Given the description of an element on the screen output the (x, y) to click on. 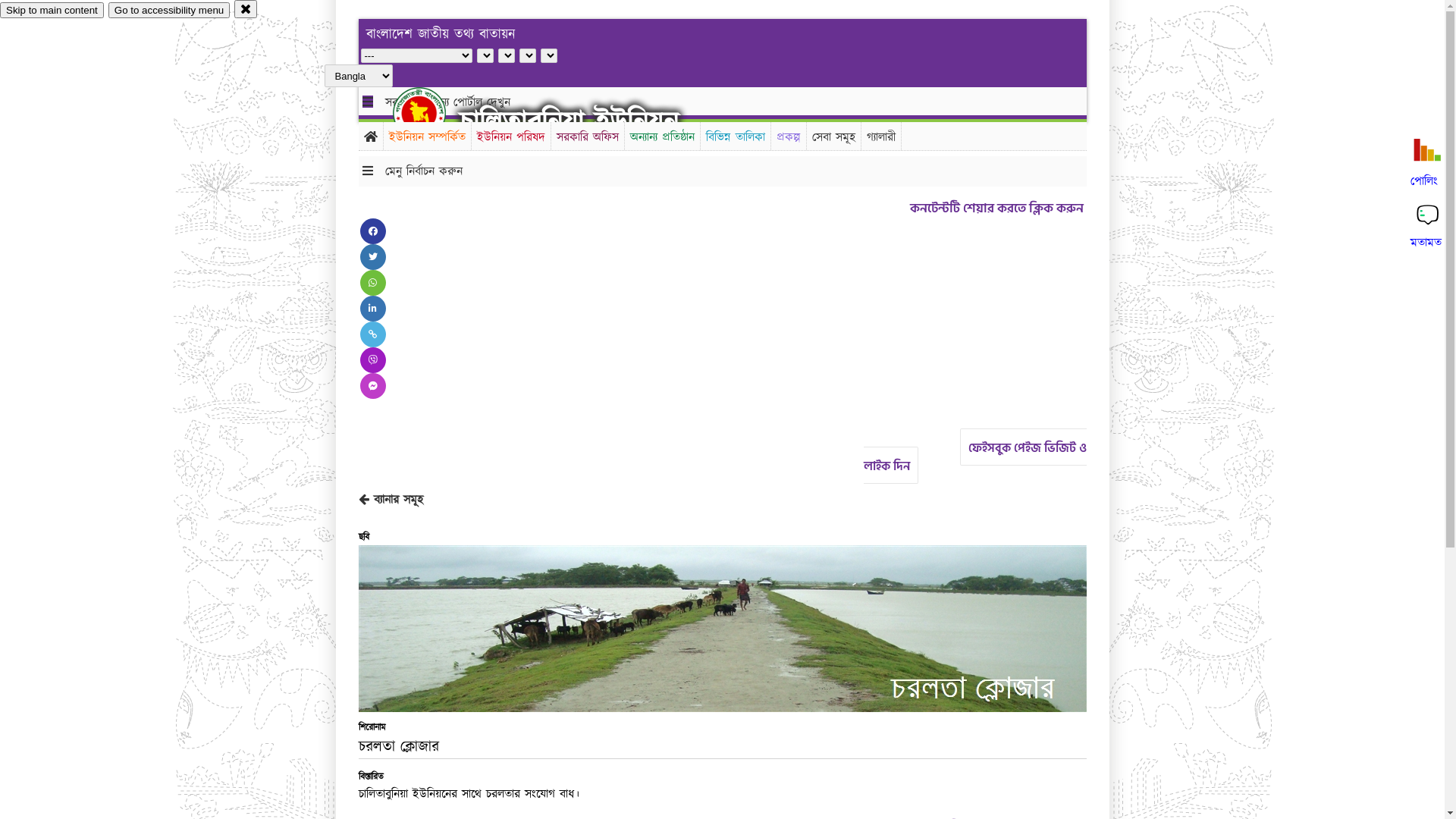
close Element type: hover (245, 9)
Go to accessibility menu Element type: text (168, 10)
Skip to main content Element type: text (51, 10)

                
             Element type: hover (431, 112)
